Given the description of an element on the screen output the (x, y) to click on. 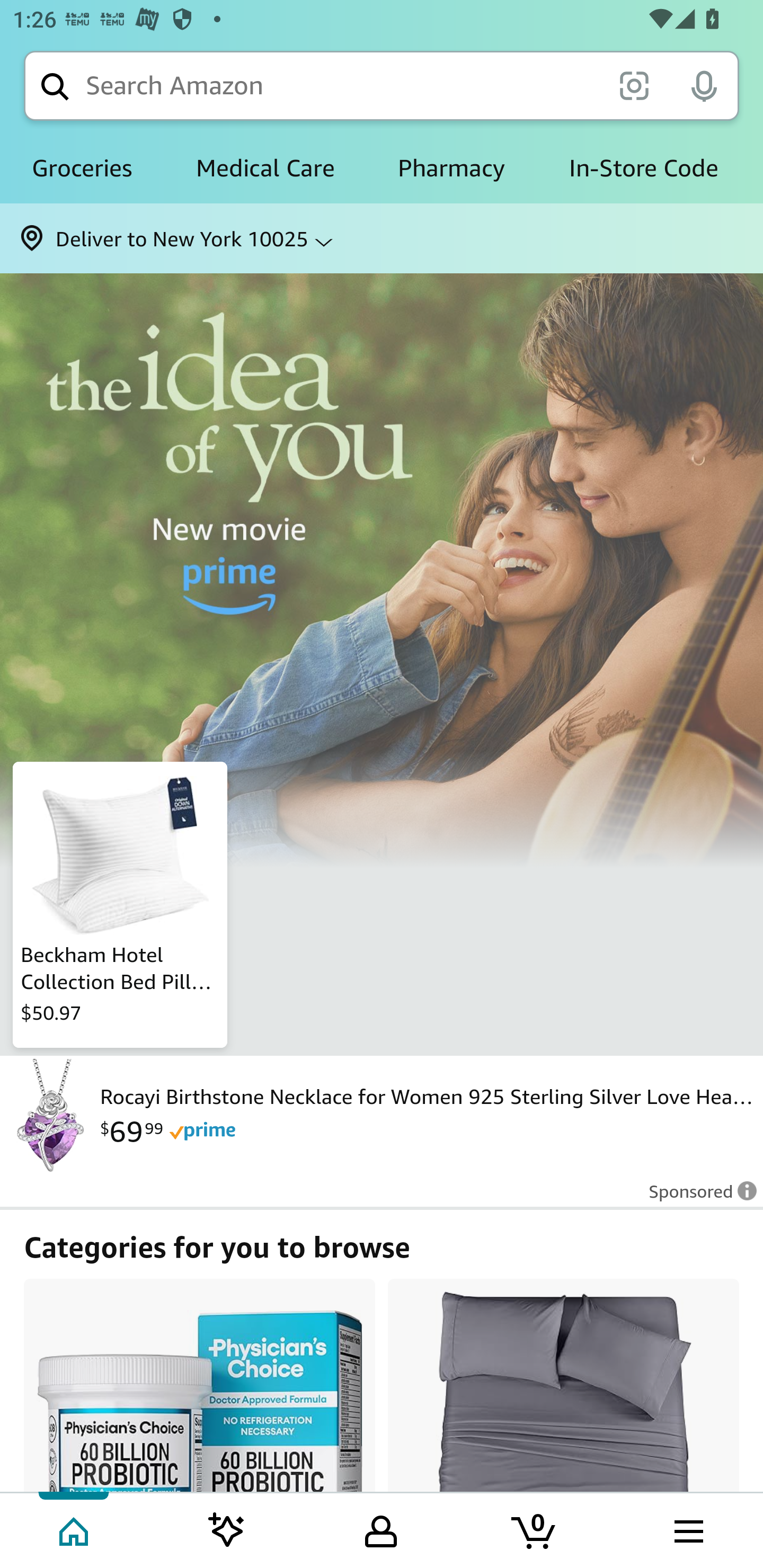
scan it (633, 85)
Groceries (82, 168)
Medical Care (265, 168)
Pharmacy (451, 168)
In-Store Code (643, 168)
Deliver to New York 10025 ⌵ (381, 237)
Leave feedback on Sponsored ad Sponsored  (696, 1196)
Home Tab 1 of 5 (75, 1529)
Inspire feed Tab 2 of 5 (227, 1529)
Your Amazon.com Tab 3 of 5 (380, 1529)
Cart 0 item Tab 4 of 5 0 (534, 1529)
Browse menu Tab 5 of 5 (687, 1529)
